Given the description of an element on the screen output the (x, y) to click on. 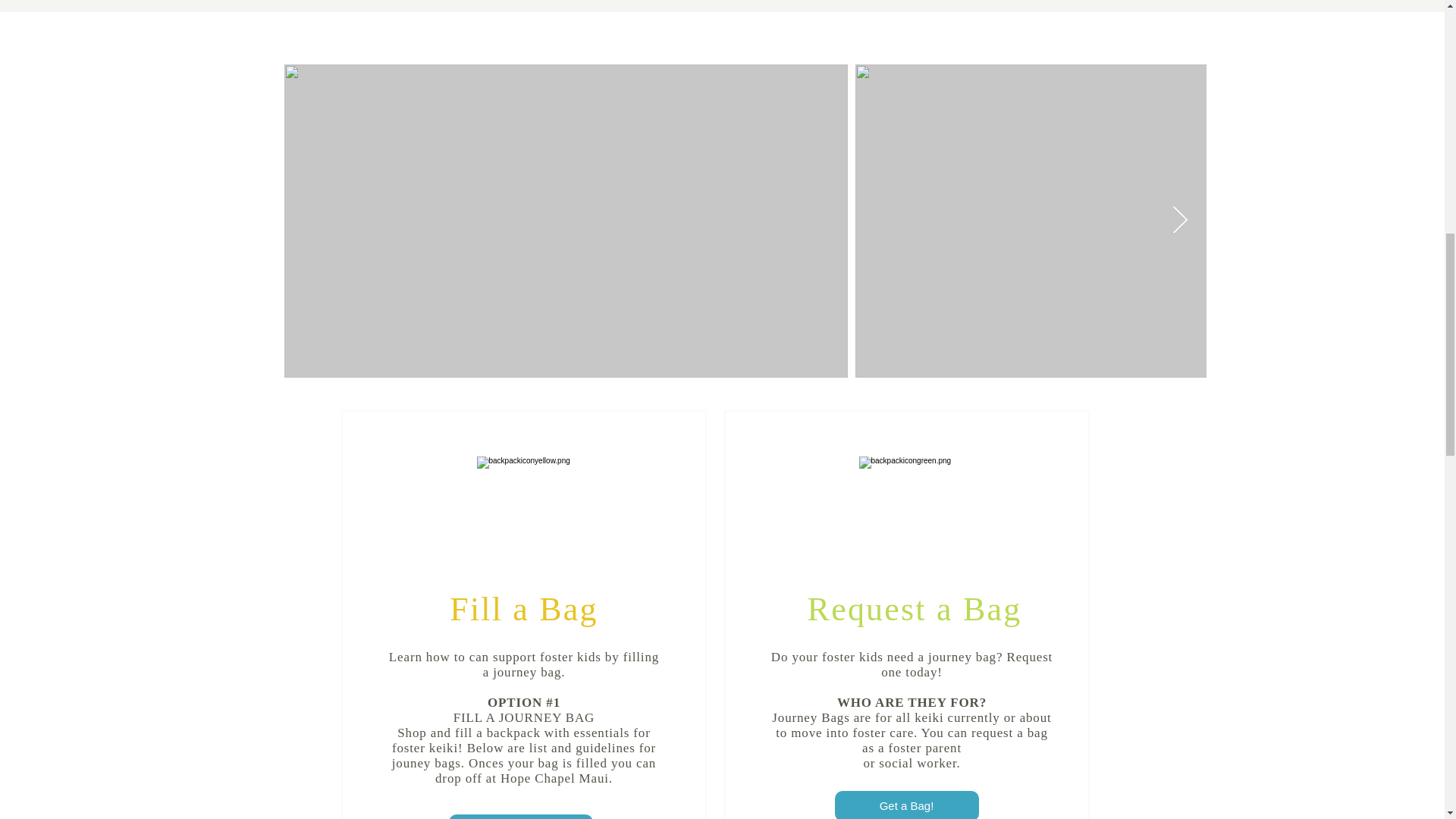
Get a Bag! (906, 805)
Journey Bag Guide (520, 816)
